Given the description of an element on the screen output the (x, y) to click on. 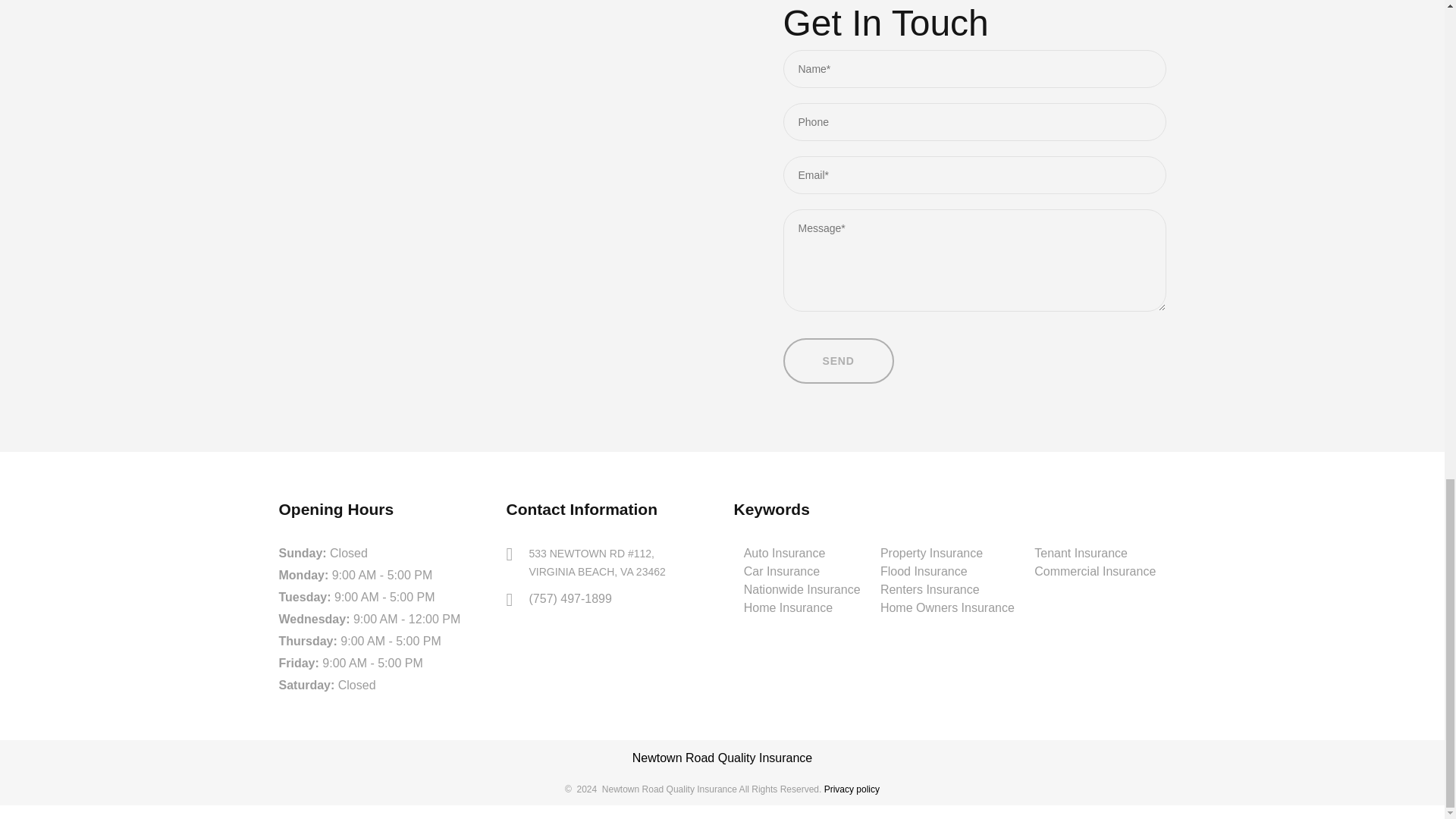
Home Insurance (802, 607)
Newtown Road Quality Insurance (721, 757)
Renters Insurance (929, 589)
SEND (838, 361)
Car Insurance (802, 571)
Tenant Insurance (1079, 553)
Nationwide Insurance (802, 589)
Property Insurance (947, 553)
Tenant Insurance (1094, 553)
Renters Insurance (929, 589)
Property Insurance (931, 553)
Commercial Insurance (1094, 571)
Commercial Insurance (1094, 571)
Home Insurance (788, 607)
Flood Insurance (947, 571)
